Given the description of an element on the screen output the (x, y) to click on. 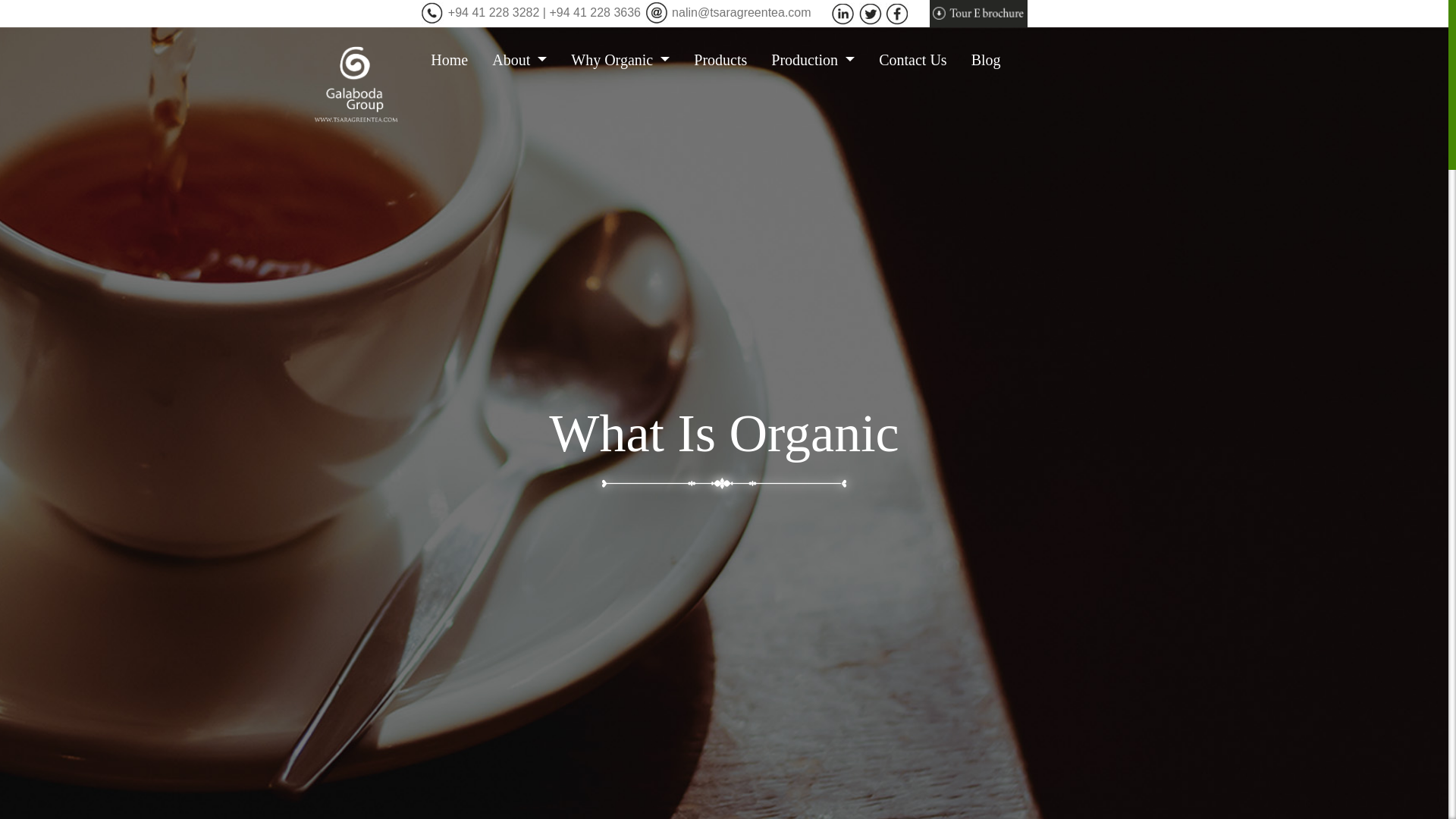
Production (818, 59)
Production (818, 59)
Home (455, 59)
Contact Us (917, 59)
Products (726, 59)
Products (726, 59)
Home (455, 59)
Why Organic (625, 59)
About (525, 59)
About (525, 59)
